Given the description of an element on the screen output the (x, y) to click on. 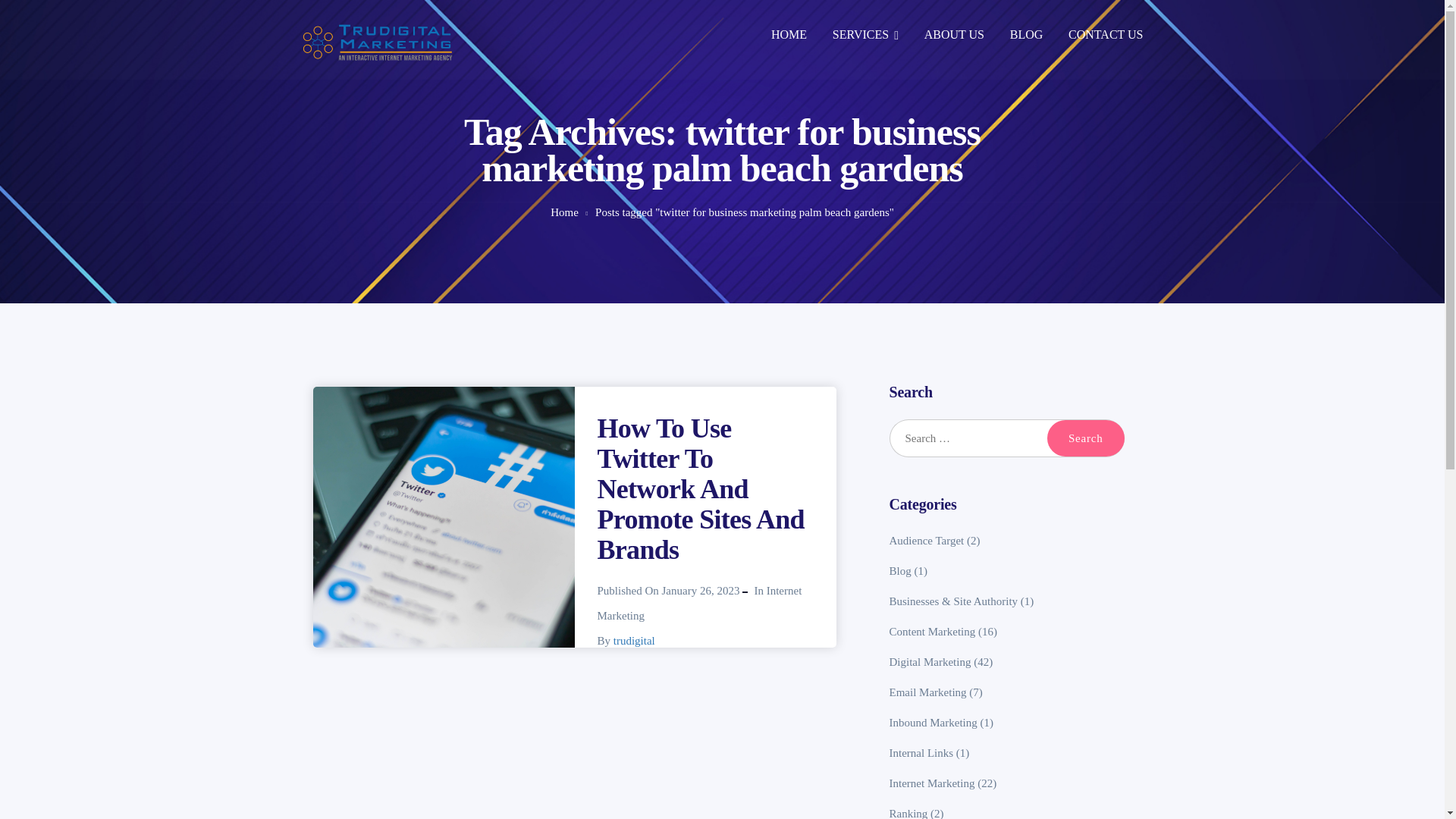
Inbound Marketing (932, 722)
Email Marketing (927, 692)
Home (564, 212)
Internal Links (921, 752)
Search (1085, 438)
Audience Target (926, 540)
Blog (900, 571)
Internet Marketing (932, 783)
How To Use Twitter To Network And Promote Sites And Brands (700, 489)
Search (1085, 438)
Digital Marketing (930, 662)
CONTACT US (1105, 36)
Ranking (908, 813)
Search (1085, 438)
BLOG (1026, 36)
